Given the description of an element on the screen output the (x, y) to click on. 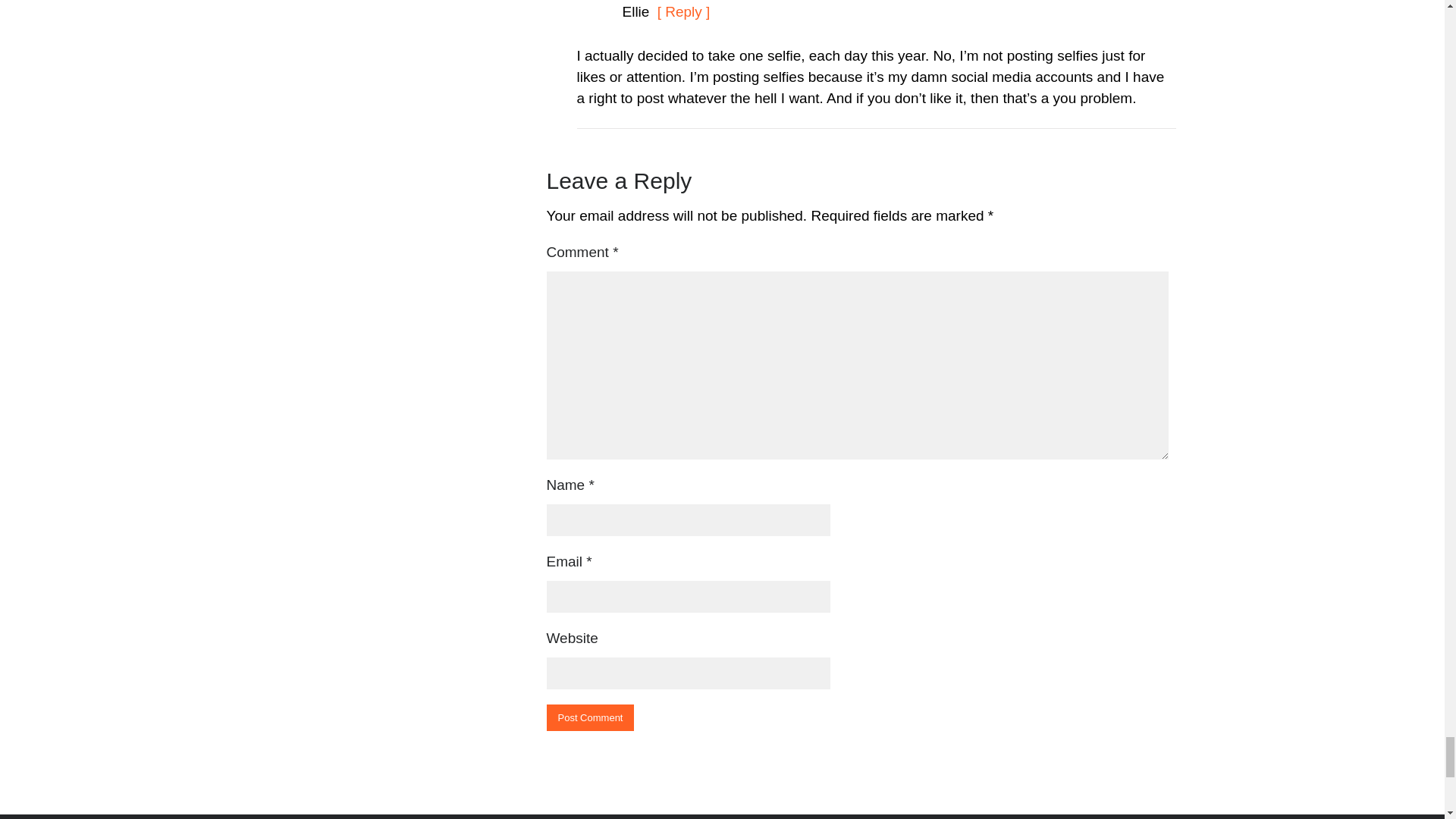
Post Comment (589, 717)
